Given the description of an element on the screen output the (x, y) to click on. 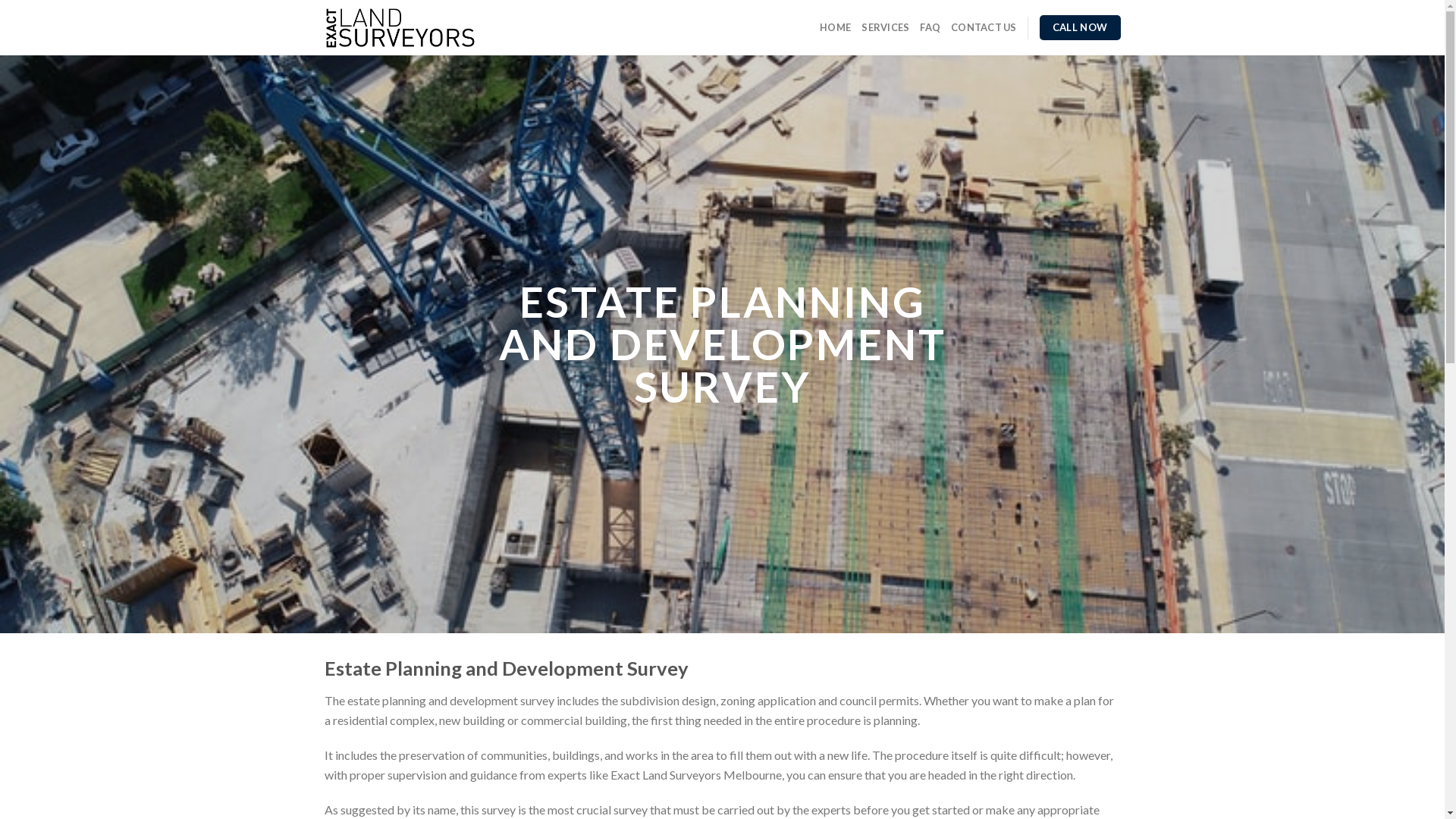
HOME Element type: text (834, 27)
FAQ Element type: text (929, 27)
Exact Land Surveyors Element type: hover (402, 27)
CALL NOW Element type: text (1079, 27)
CONTACT US Element type: text (983, 27)
SERVICES Element type: text (885, 27)
